Given the description of an element on the screen output the (x, y) to click on. 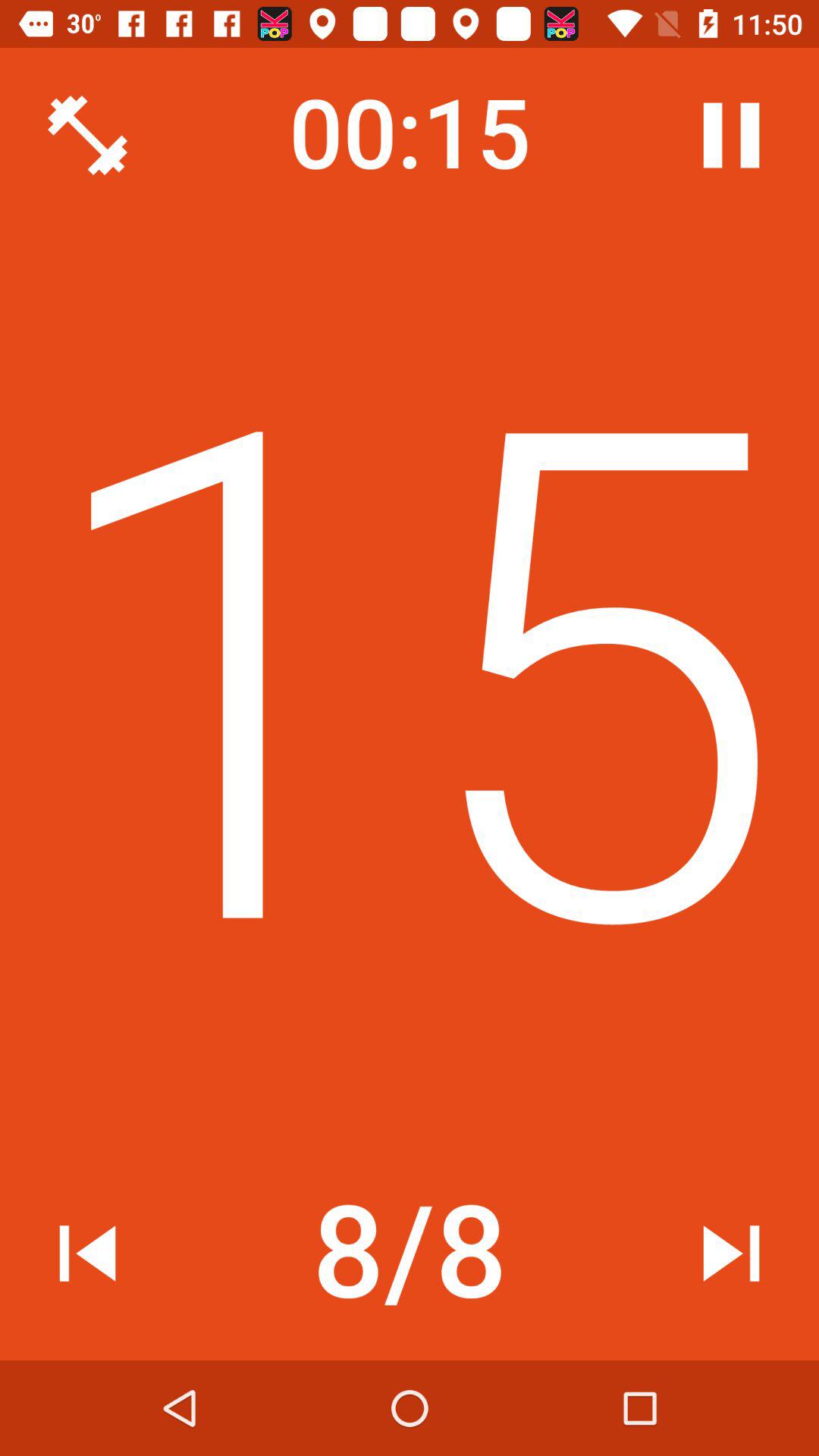
press the item at the bottom left corner (87, 1253)
